Given the description of an element on the screen output the (x, y) to click on. 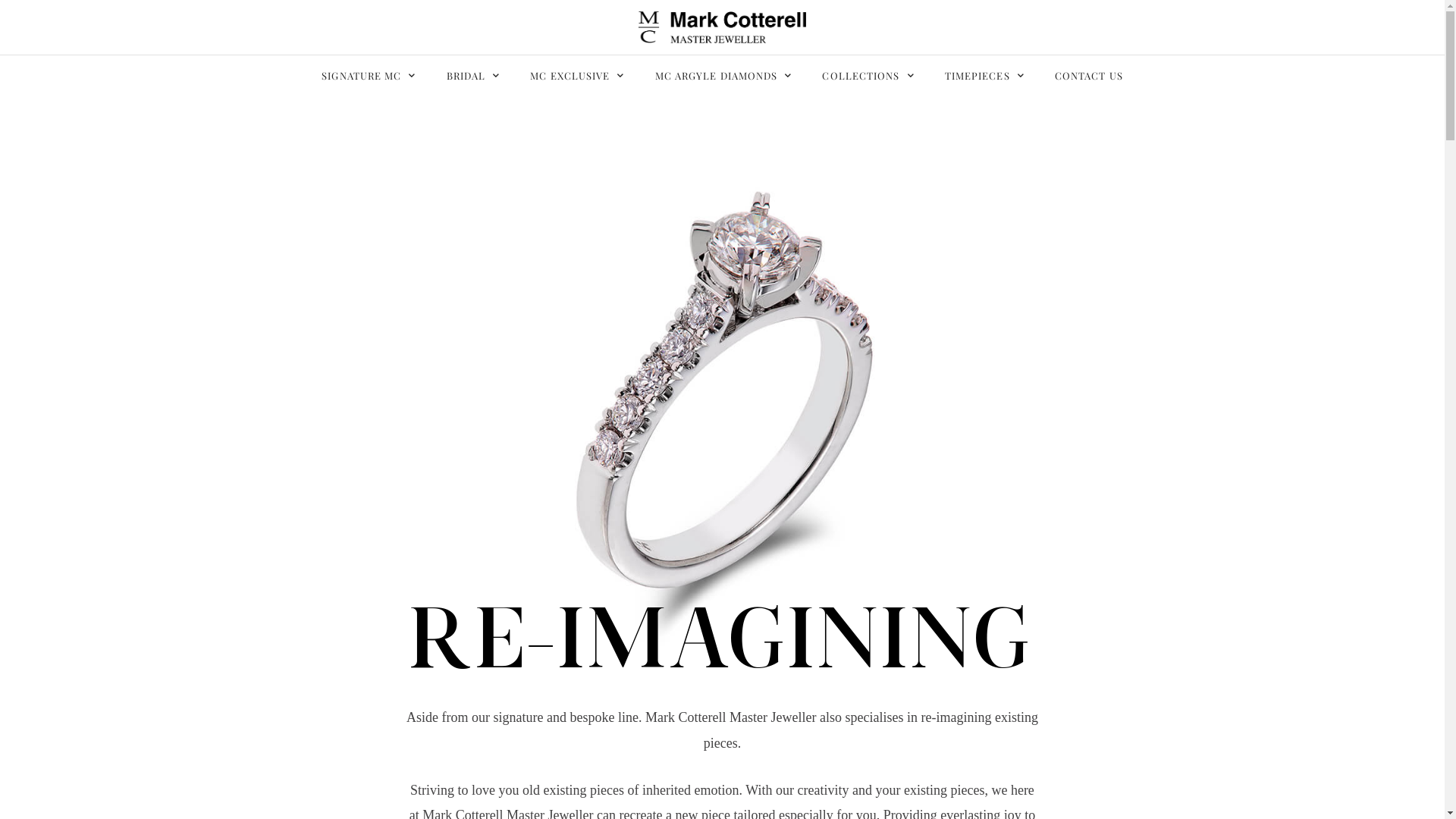
MC ARGYLE DIAMONDS Element type: text (723, 75)
BRIDAL Element type: text (473, 75)
MC EXCLUSIVE Element type: text (576, 75)
TIMEPIECES Element type: text (984, 75)
SIGNATURE MC Element type: text (368, 75)
COLLECTIONS Element type: text (867, 75)
CONTACT US Element type: text (1088, 75)
